Given the description of an element on the screen output the (x, y) to click on. 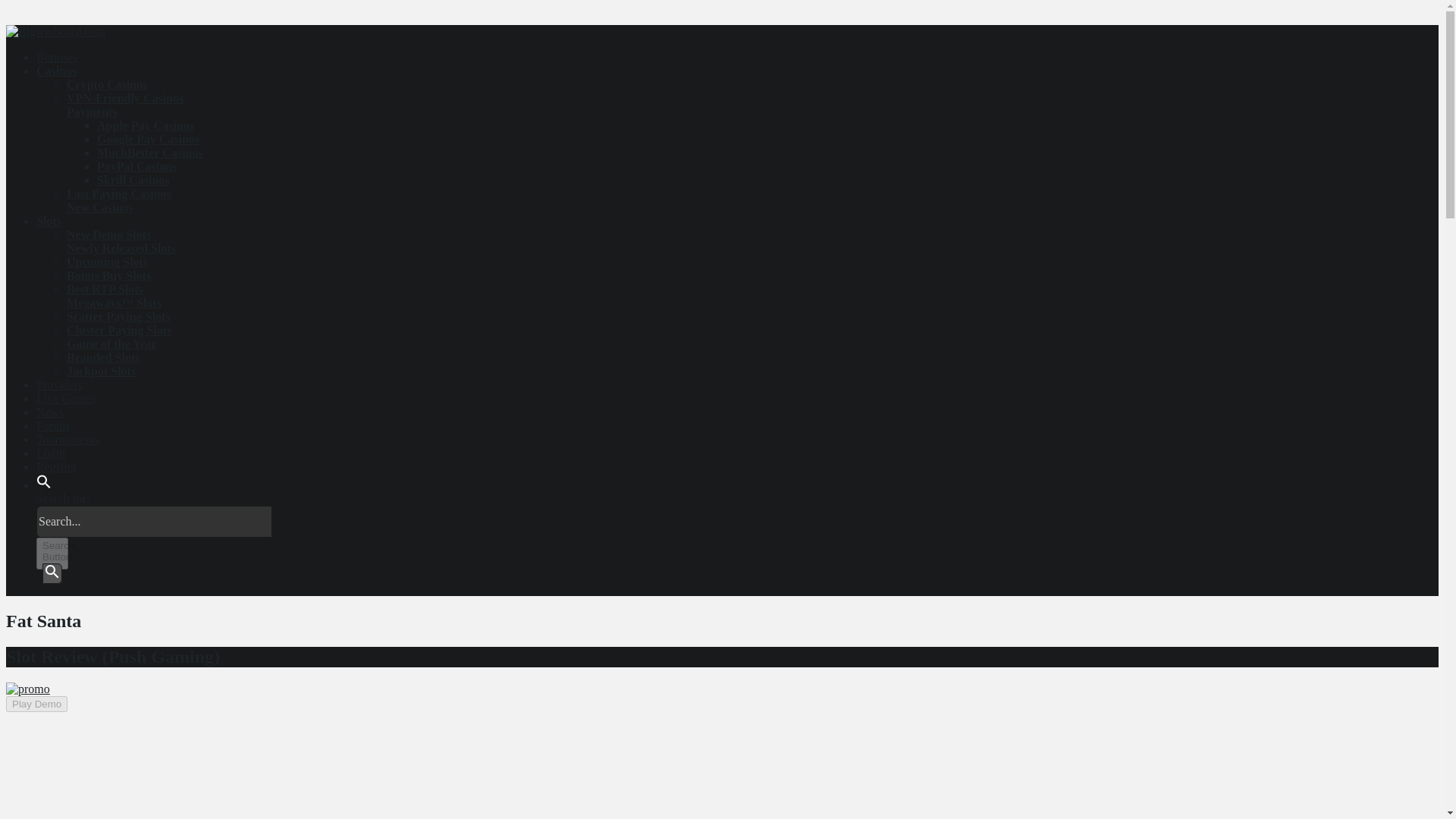
Bigwinboard.com (54, 31)
Payments (91, 111)
Bonuses (56, 56)
Google Pay Casinos (148, 138)
Crypto Casinos (106, 83)
VPN-Friendly Casinos (124, 97)
Apple Pay Casinos (145, 124)
Casinos (56, 70)
MuchBetter Casinos (150, 152)
